Given the description of an element on the screen output the (x, y) to click on. 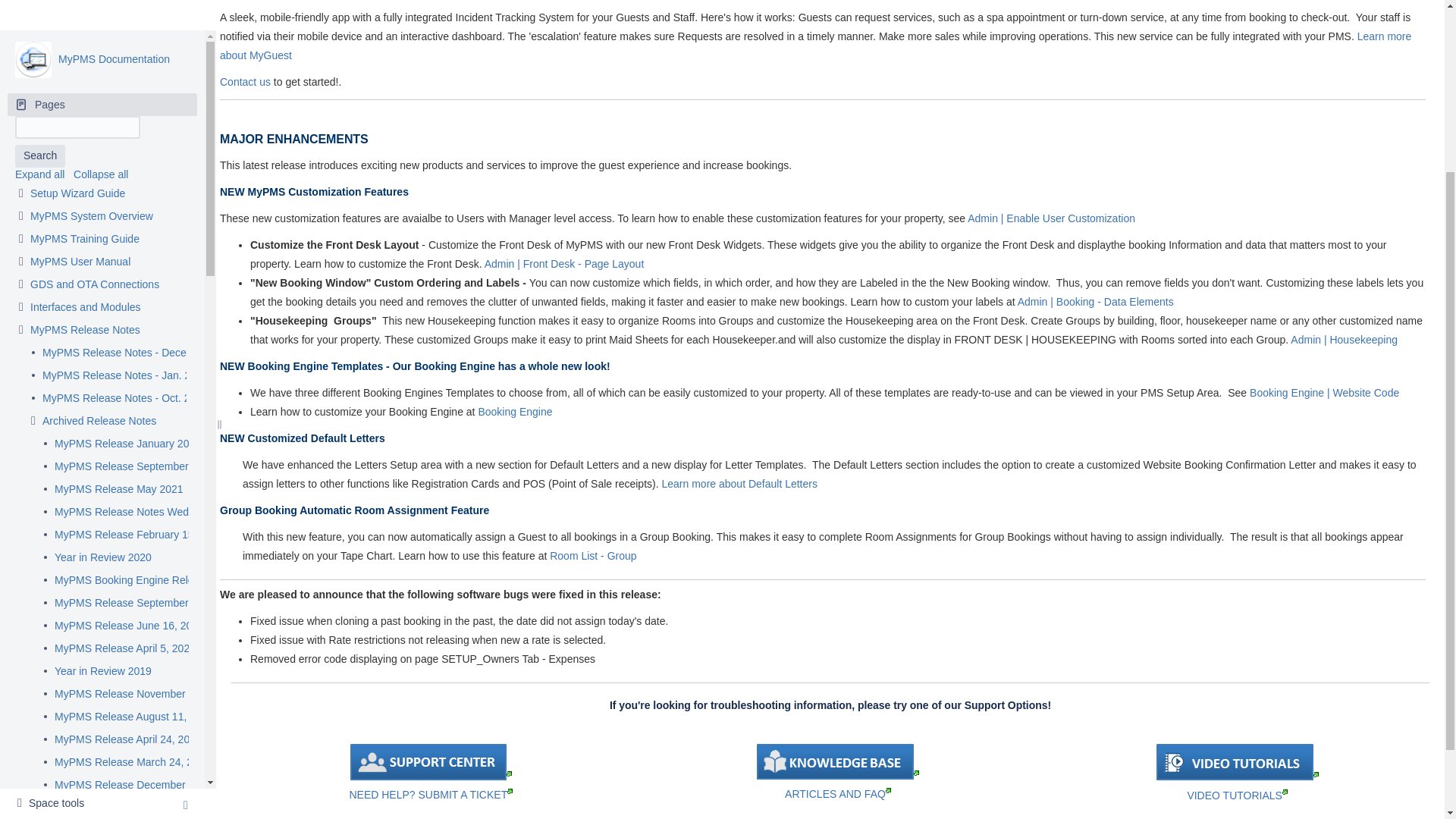
MyPMS User Manual (80, 33)
MyPMS Release Notes (84, 102)
MyPMS Release Notes - December 2023 (139, 124)
MyPMS Release Notes - Jan. 2023 (125, 147)
MyPMS Training Guide (84, 11)
MyPMS Release Notes - Oct. 2022 (125, 170)
Interfaces and Modules (85, 79)
GDS and OTA Connections (94, 56)
